Given the description of an element on the screen output the (x, y) to click on. 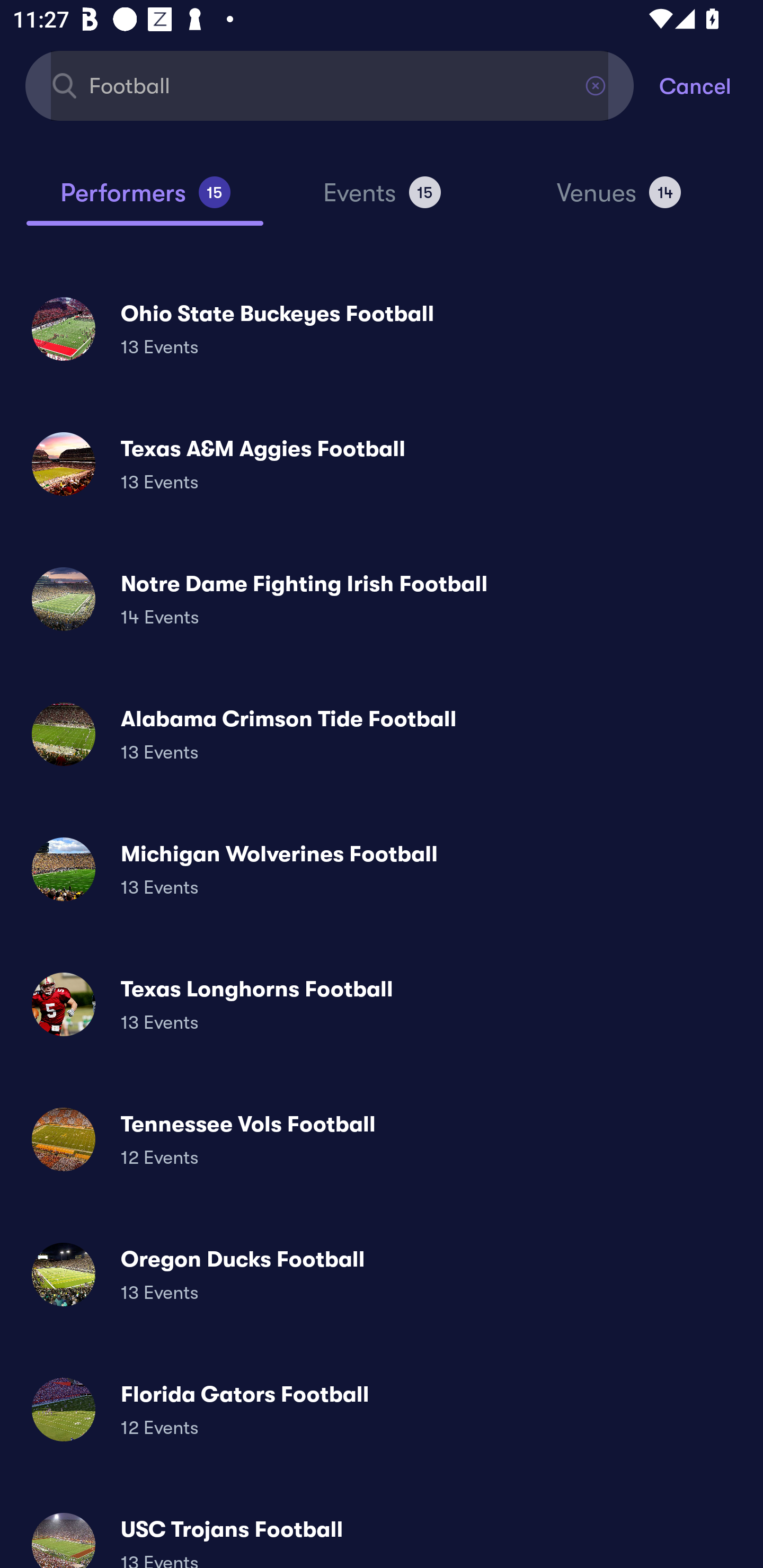
Football Find (329, 85)
Football Find (329, 85)
Cancel (711, 85)
Performers 15 (144, 200)
Events 15 (381, 200)
Venues 14 (618, 200)
Ohio State Buckeyes Football 13 Events (381, 328)
Texas A&M Aggies Football 13 Events (381, 464)
Notre Dame Fighting Irish Football 14 Events (381, 598)
Alabama Crimson Tide Football 13 Events (381, 734)
Michigan Wolverines Football 13 Events (381, 869)
Texas Longhorns Football 13 Events (381, 1004)
Tennessee Vols Football 12 Events (381, 1138)
Oregon Ducks Football 13 Events (381, 1273)
Florida Gators Football 12 Events (381, 1409)
USC Trojans Football 13 Events (381, 1532)
